Given the description of an element on the screen output the (x, y) to click on. 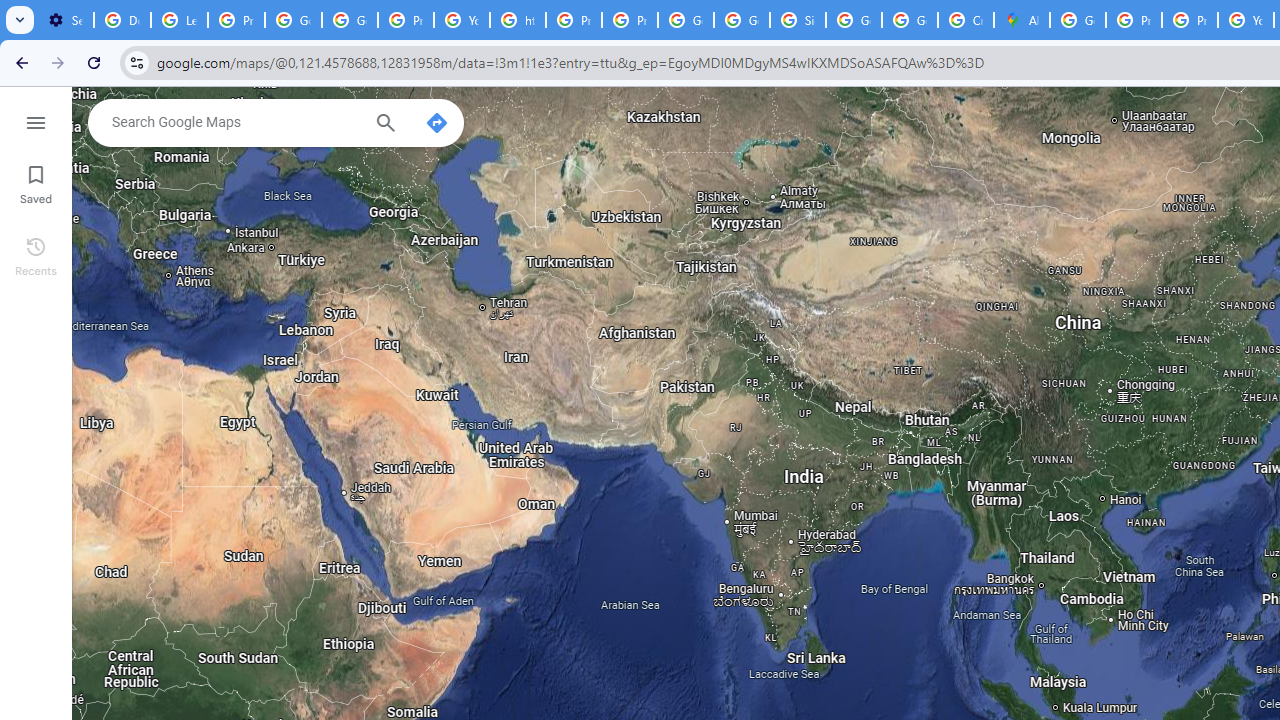
https://scholar.google.com/ (518, 20)
Google Account Help (349, 20)
